Given the description of an element on the screen output the (x, y) to click on. 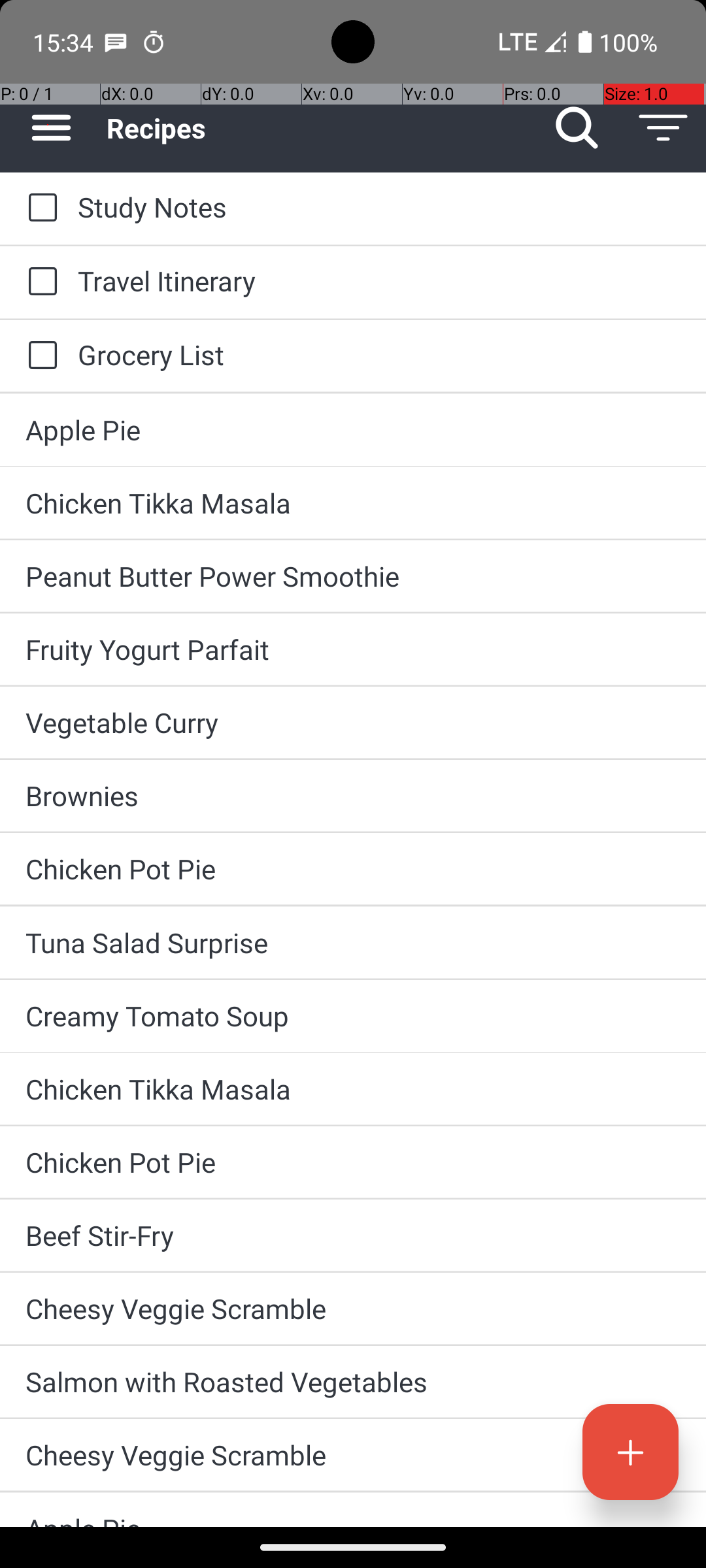
to-do: Study Notes Element type: android.widget.CheckBox (38, 208)
Study Notes Element type: android.widget.TextView (378, 206)
to-do: Travel Itinerary Element type: android.widget.CheckBox (38, 282)
Travel Itinerary Element type: android.widget.TextView (378, 280)
to-do: Grocery List Element type: android.widget.CheckBox (38, 356)
Grocery List Element type: android.widget.TextView (378, 354)
Apple Pie Element type: android.widget.TextView (352, 429)
Chicken Tikka Masala Element type: android.widget.TextView (352, 502)
Peanut Butter Power Smoothie Element type: android.widget.TextView (352, 575)
Fruity Yogurt Parfait Element type: android.widget.TextView (352, 648)
Vegetable Curry Element type: android.widget.TextView (352, 721)
Brownies Element type: android.widget.TextView (352, 795)
Chicken Pot Pie Element type: android.widget.TextView (352, 868)
Tuna Salad Surprise Element type: android.widget.TextView (352, 942)
Beef Stir-Fry Element type: android.widget.TextView (352, 1234)
Cheesy Veggie Scramble Element type: android.widget.TextView (352, 1307)
Salmon with Roasted Vegetables Element type: android.widget.TextView (352, 1381)
